Given the description of an element on the screen output the (x, y) to click on. 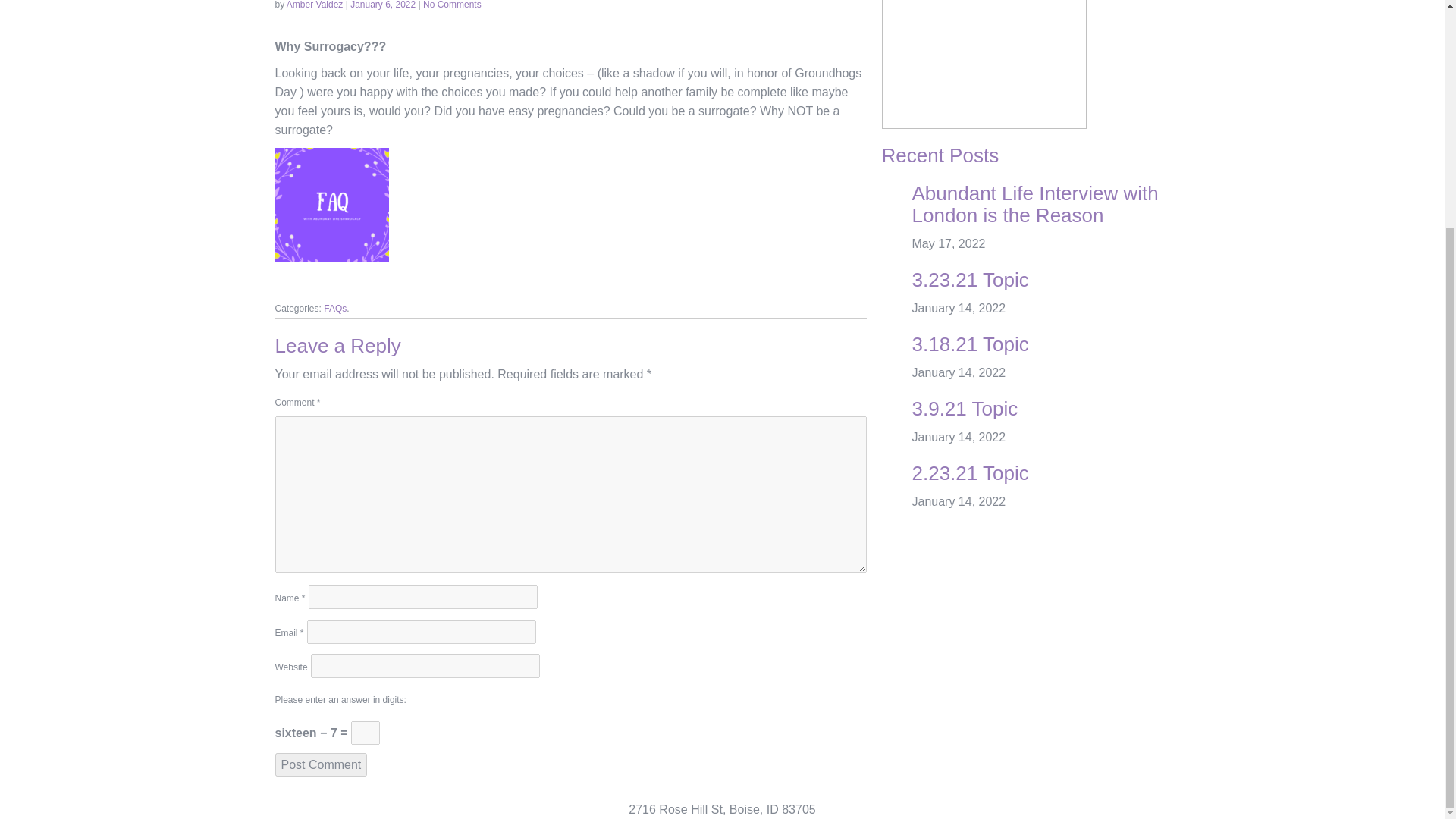
Post Comment (320, 764)
3.18.21 Topic (969, 343)
Amber Valdez (314, 4)
3.9.21 Topic (964, 408)
Abundant Life Interview with London is the Reason (1034, 203)
2.23.21 Topic (969, 472)
Post Comment (320, 764)
3.23.21 Topic (969, 279)
No Comments (452, 4)
FAQs (334, 308)
January 6, 2022 (383, 4)
